Given the description of an element on the screen output the (x, y) to click on. 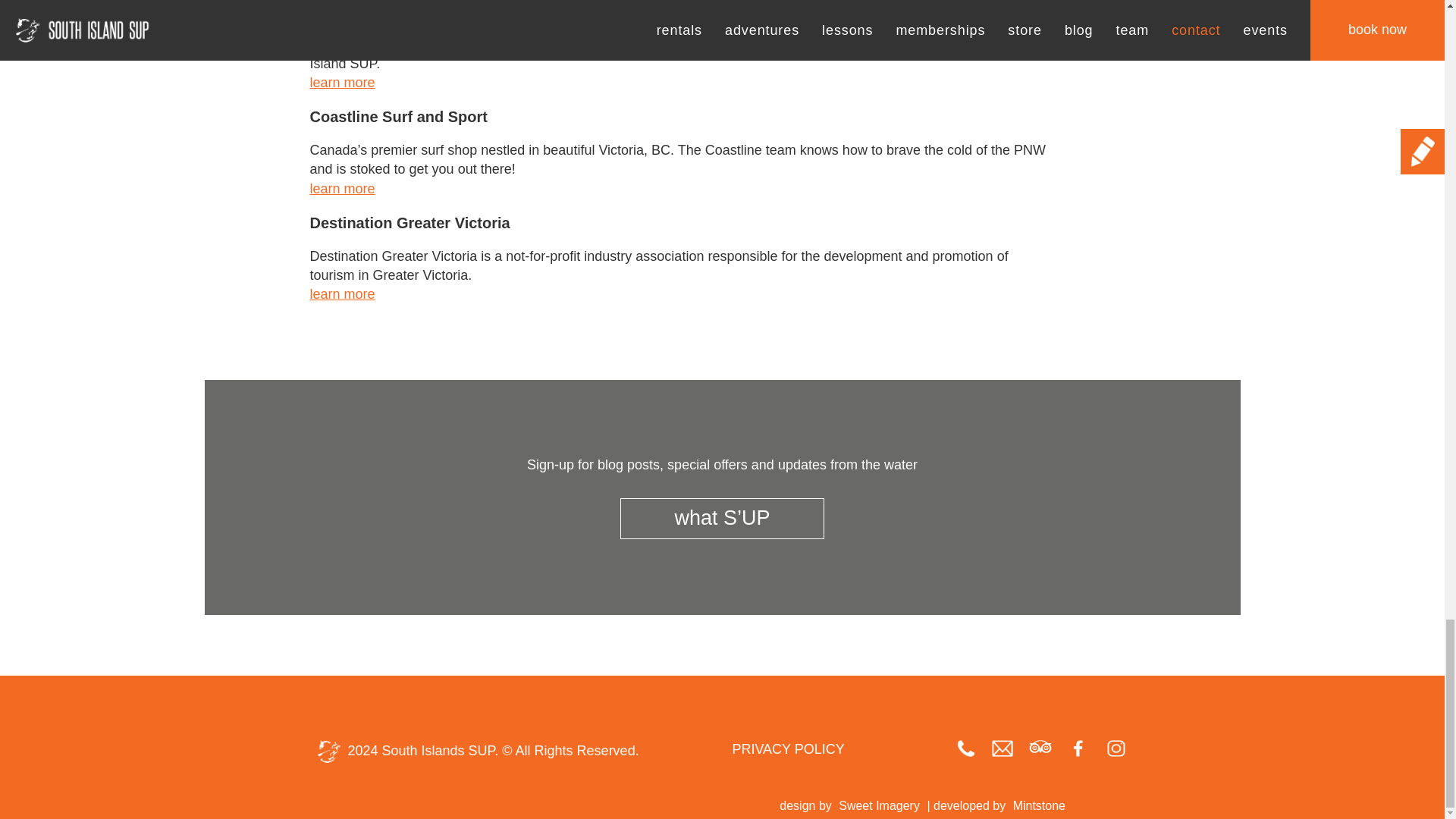
learn more (341, 294)
learn more (341, 82)
Mintstone (1038, 805)
learn more (341, 188)
PRIVACY POLICY (788, 749)
Sweet Imagery (878, 805)
